Given the description of an element on the screen output the (x, y) to click on. 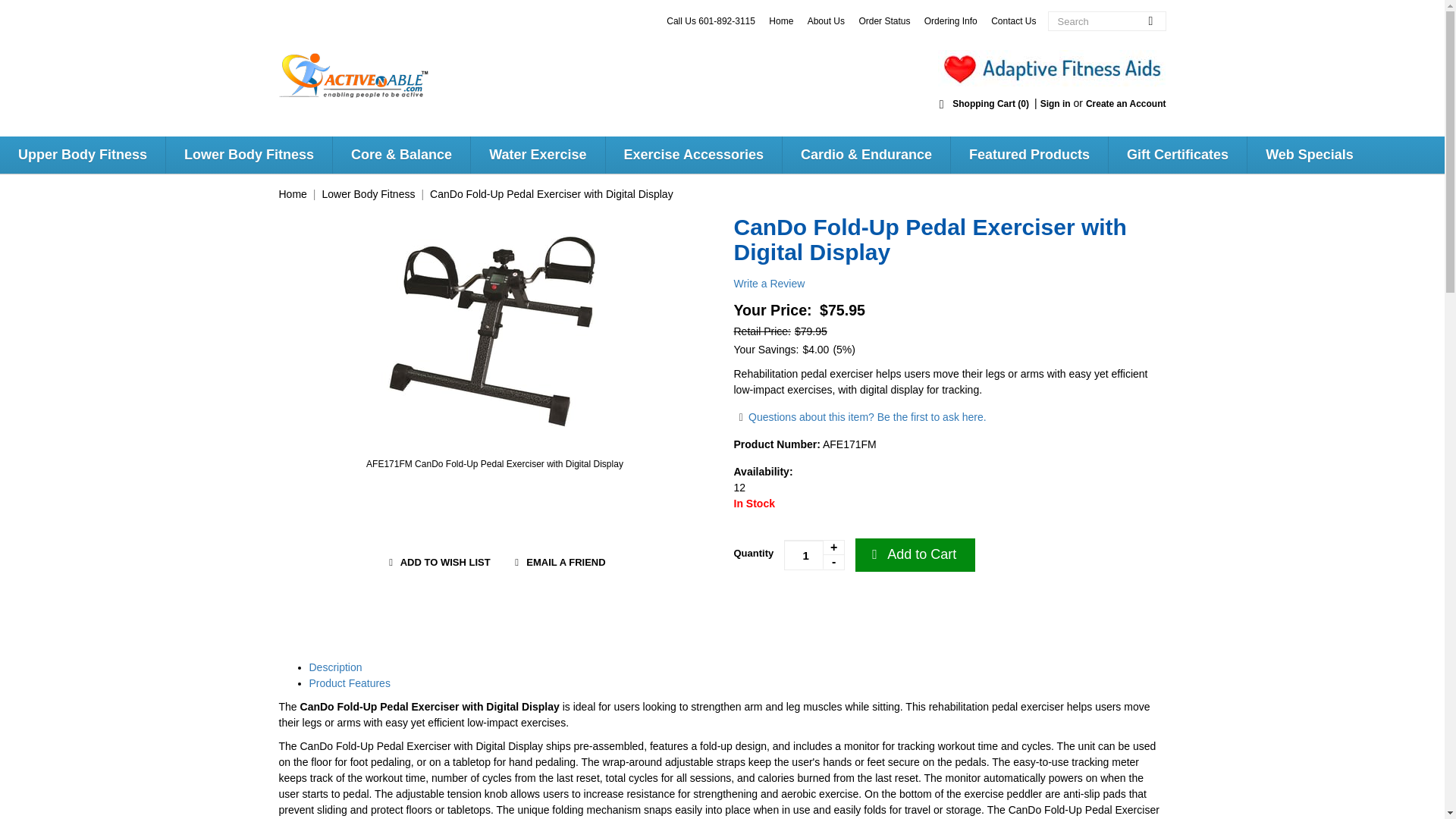
Home (780, 20)
Exercise Accessories (693, 154)
Sign in (1055, 103)
cart (982, 103)
Order Status (884, 20)
Web Specials (1309, 154)
ADD TO WISH LIST (436, 562)
Sign in (1055, 103)
Order Status (884, 20)
Home (780, 20)
